Given the description of an element on the screen output the (x, y) to click on. 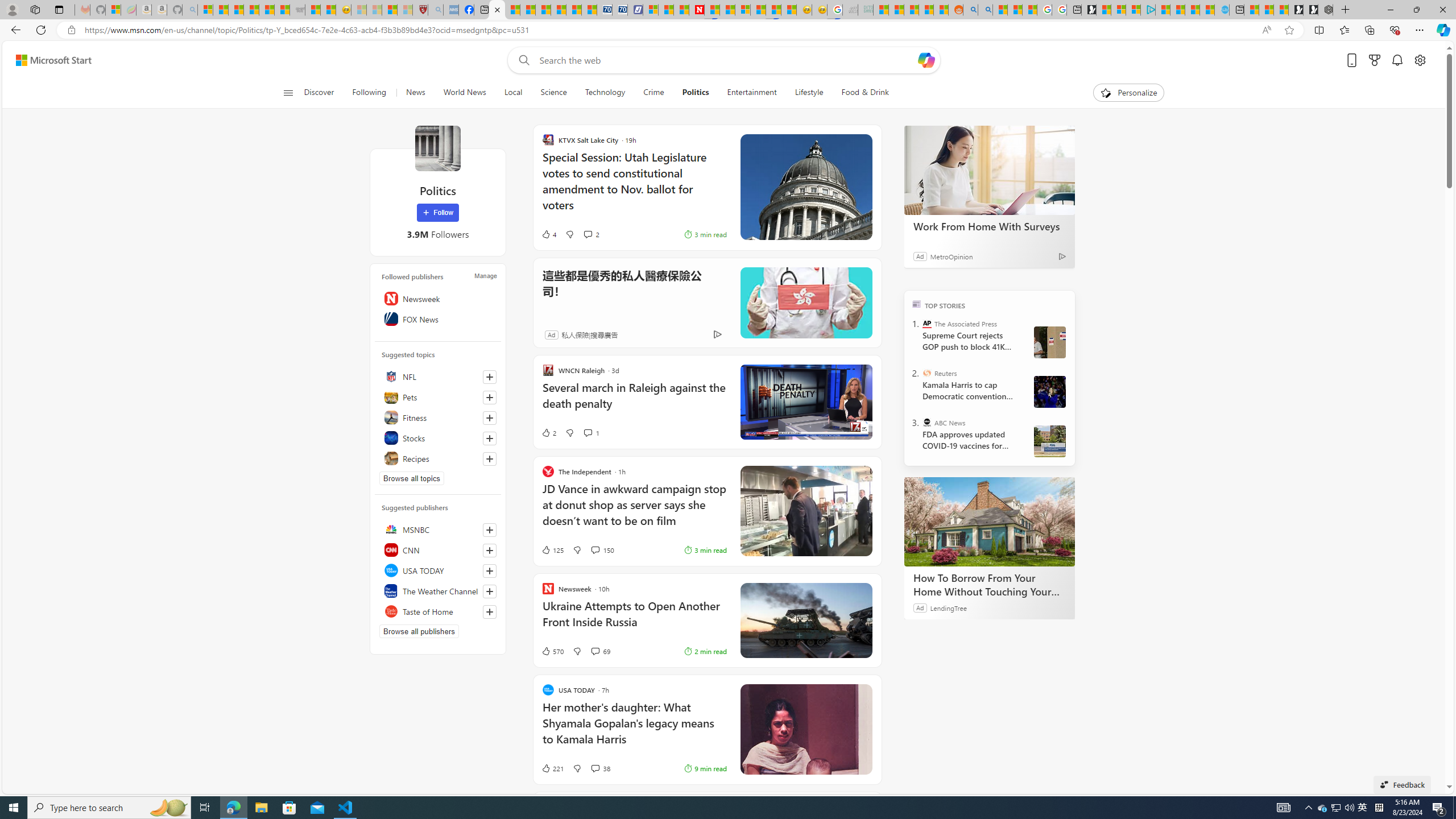
2 Like (547, 432)
Taste of Home (437, 610)
USA TODAY (437, 570)
Follow this source (489, 611)
